Given the description of an element on the screen output the (x, y) to click on. 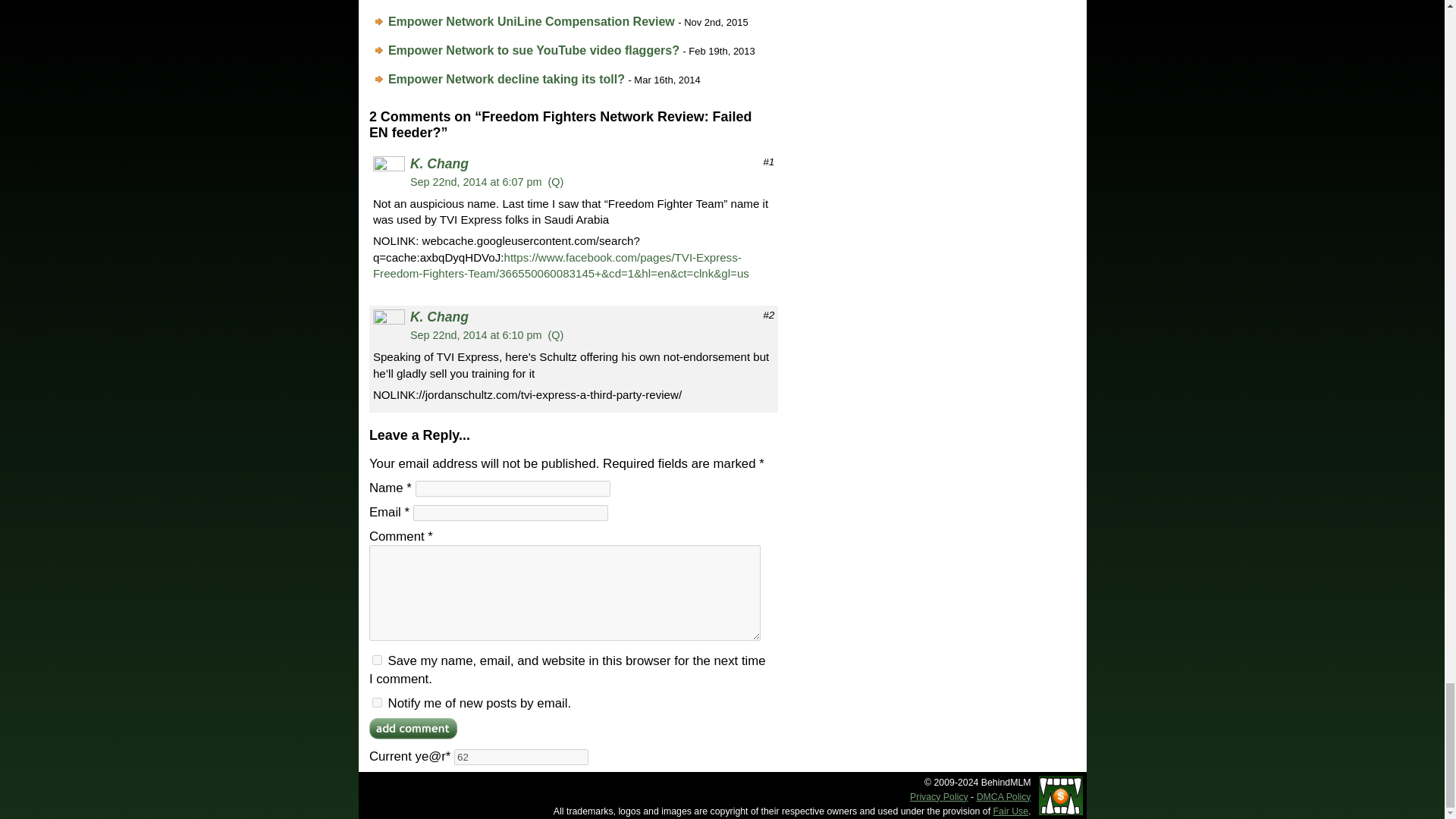
Empower Network to sue YouTube video flaggers? (533, 50)
Click here or select text to quote comment (556, 182)
K. Chang (439, 316)
Click here or select text to quote comment (556, 335)
Sep 22nd, 2014 at 6:10 pm (475, 335)
Empower Network decline taking its toll? (506, 78)
62 (521, 756)
Empower Network UniLine Compensation Review (531, 21)
subscribe (376, 702)
Sep 22nd, 2014 at 6:07 pm (475, 182)
